Given the description of an element on the screen output the (x, y) to click on. 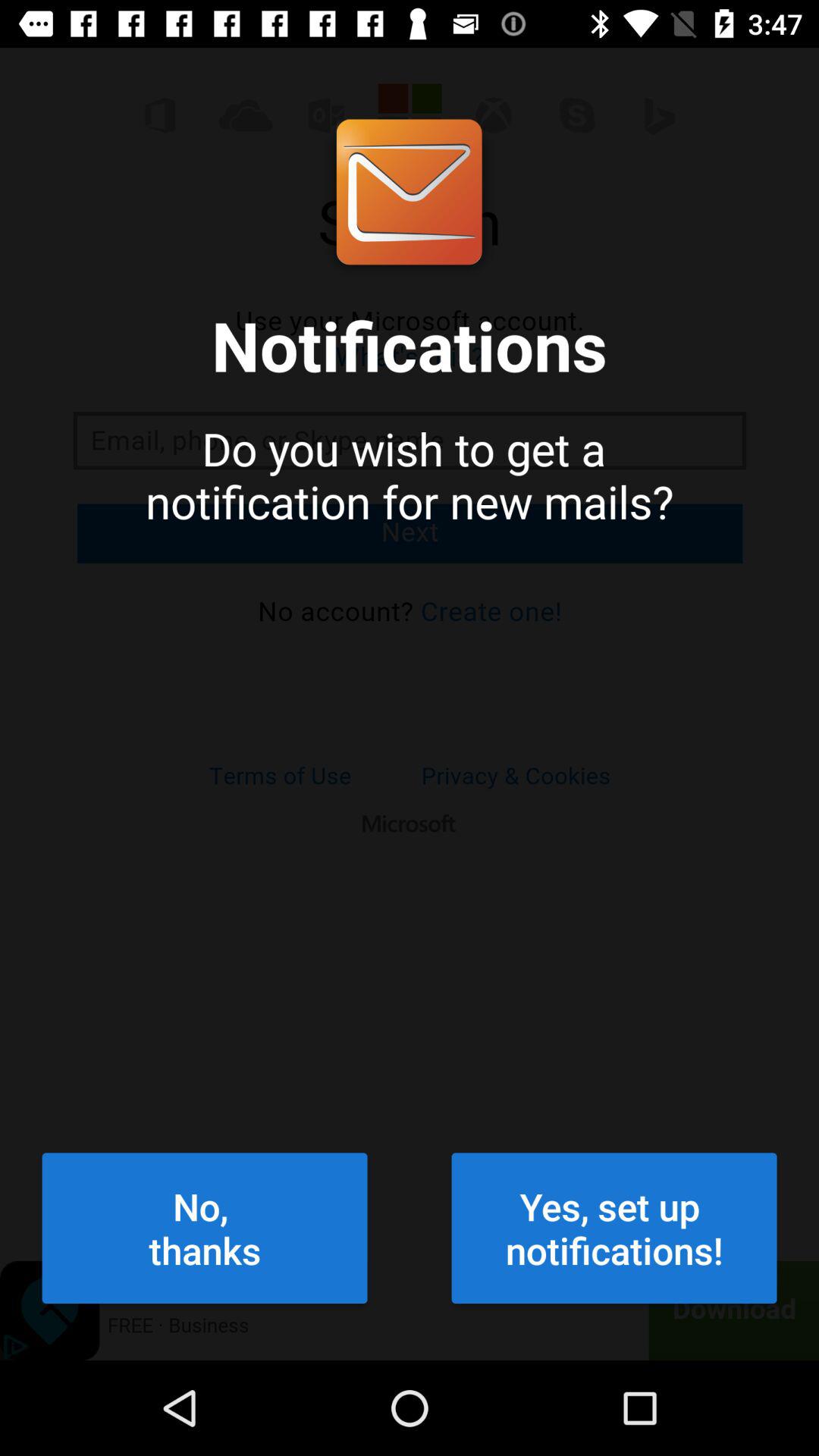
choose the button to the right of no, 
thanks icon (613, 1227)
